Given the description of an element on the screen output the (x, y) to click on. 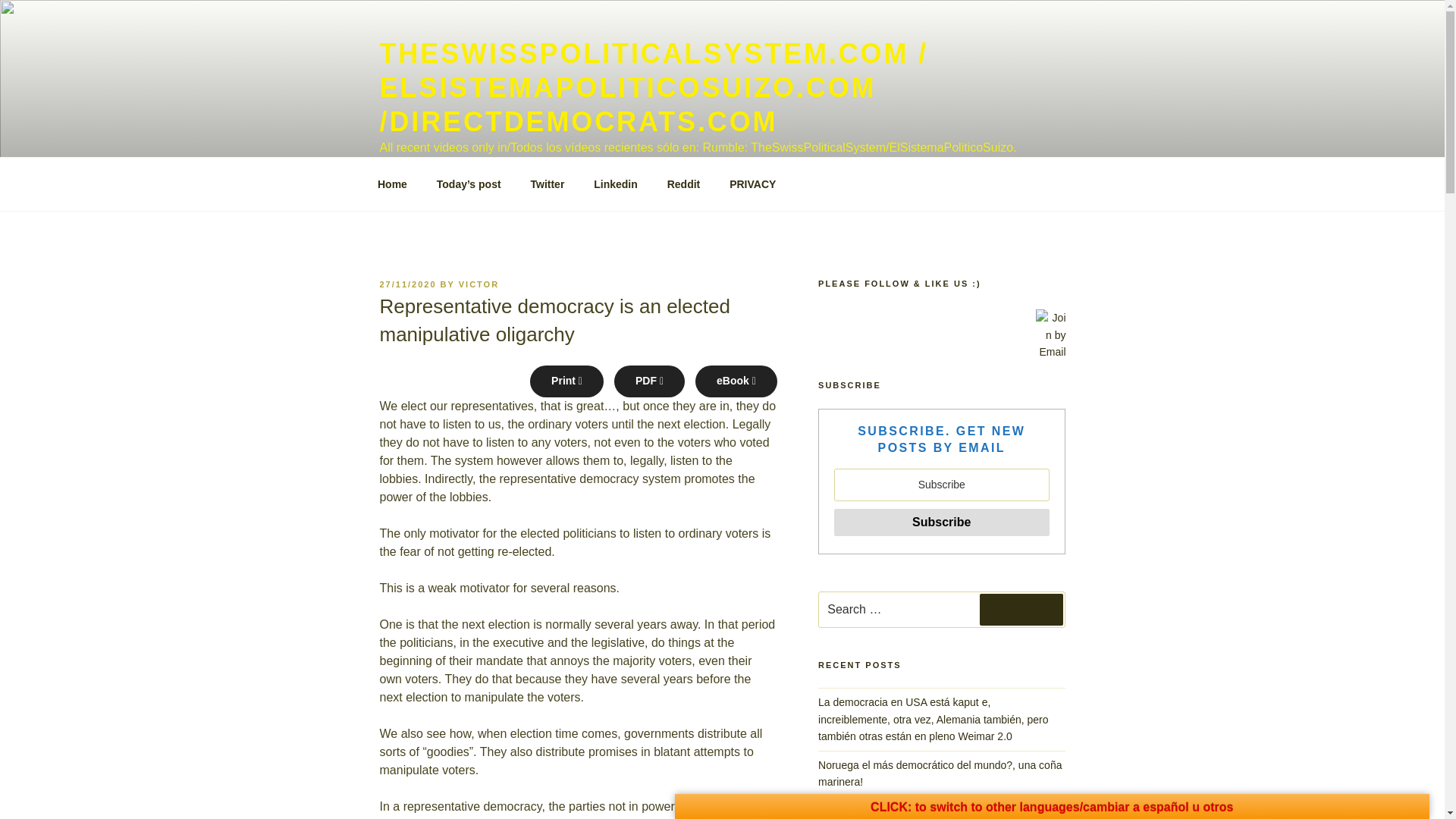
VICTOR (478, 284)
Twitter (547, 183)
Linkedin (615, 183)
PRIVACY (752, 183)
Home (392, 183)
Subscribe (941, 522)
Reddit (683, 183)
